Given the description of an element on the screen output the (x, y) to click on. 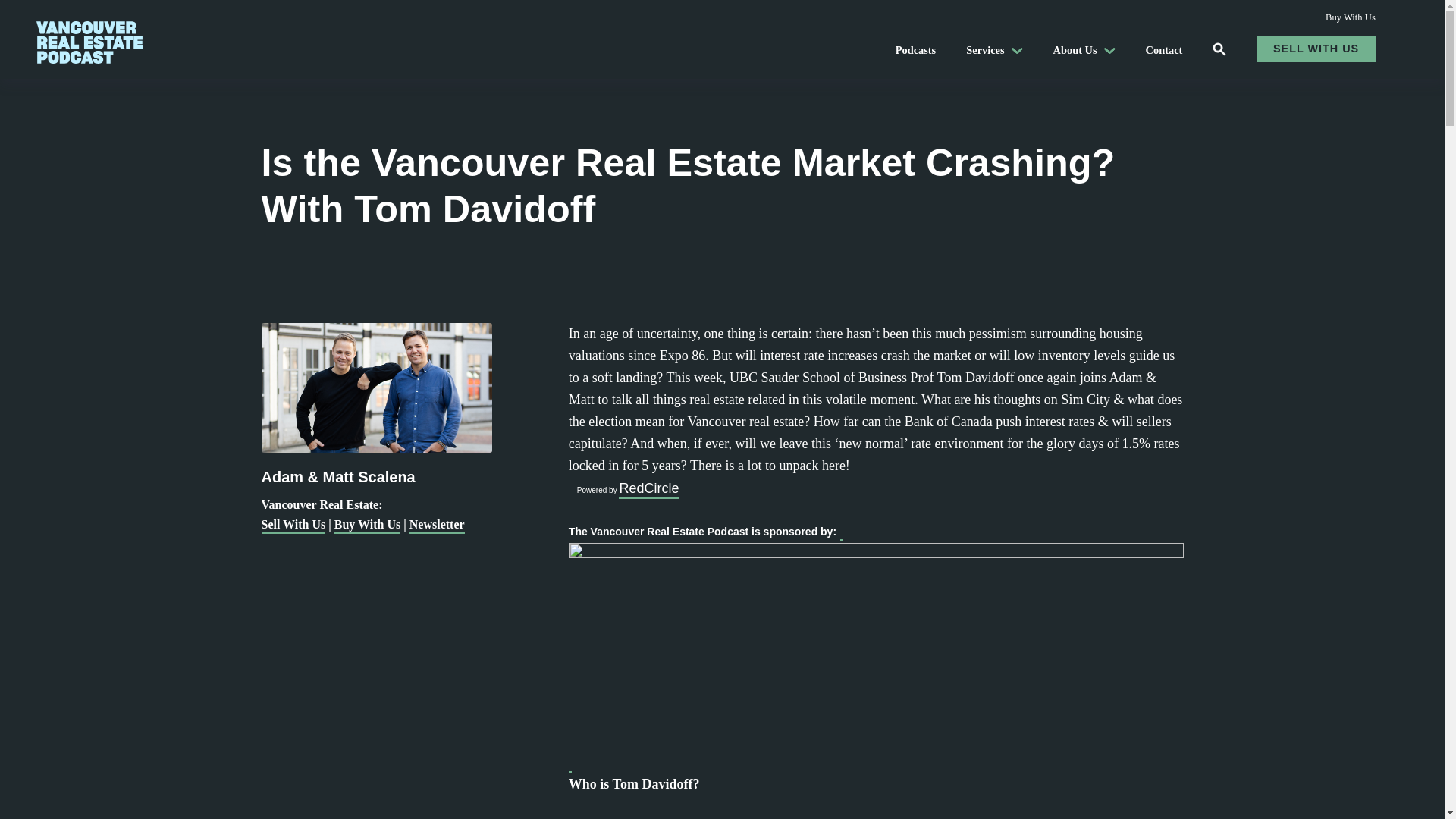
About Us (1083, 49)
Buy With Us (367, 525)
Contact (1163, 49)
Vancouver Real Estate Podcast (207, 40)
RedCircle (648, 489)
Podcasts (915, 49)
Services (994, 49)
Contact (1163, 49)
Newsletter (436, 525)
Podcasts (915, 49)
